Given the description of an element on the screen output the (x, y) to click on. 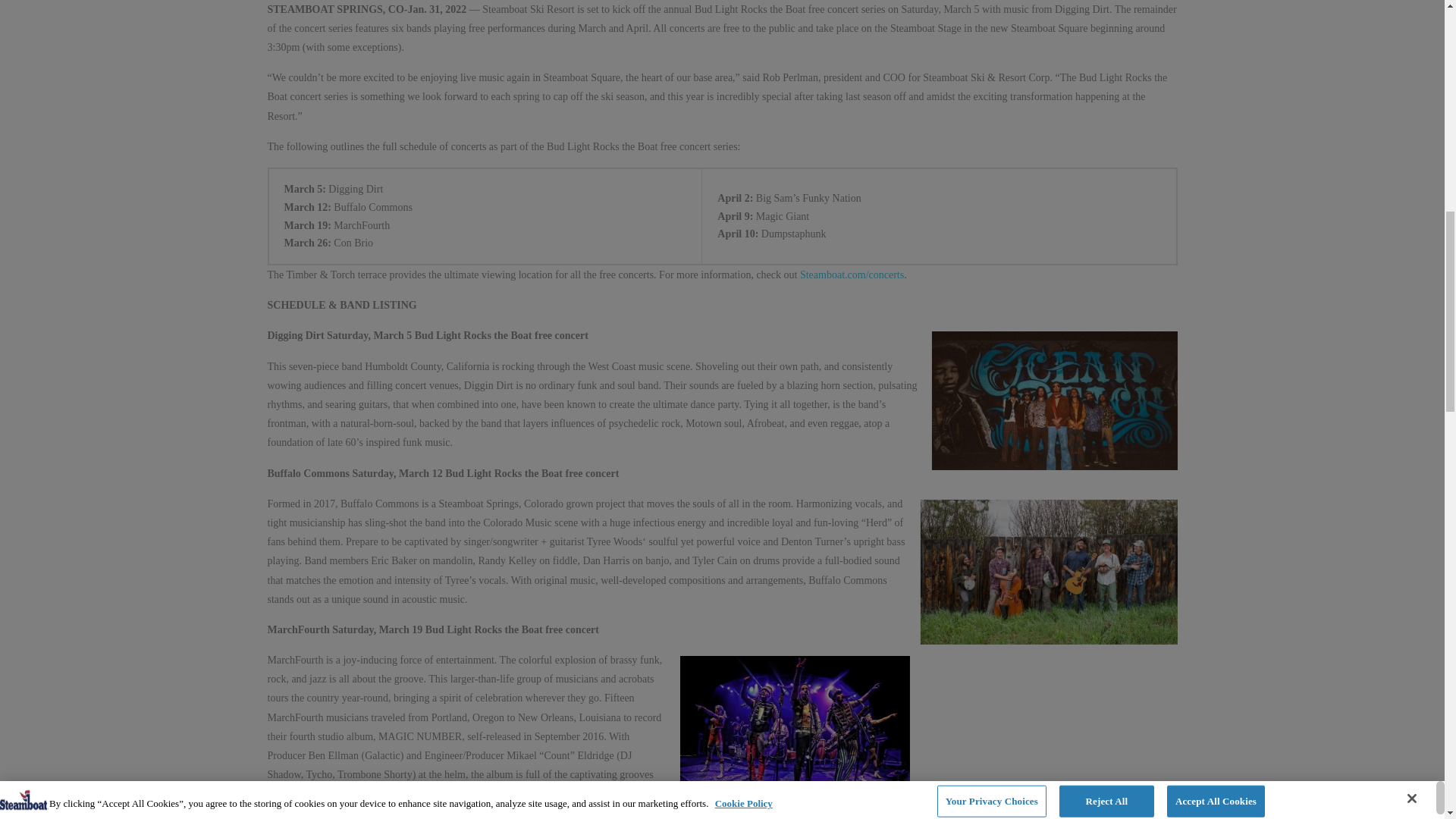
Company Logo (24, 2)
